Given the description of an element on the screen output the (x, y) to click on. 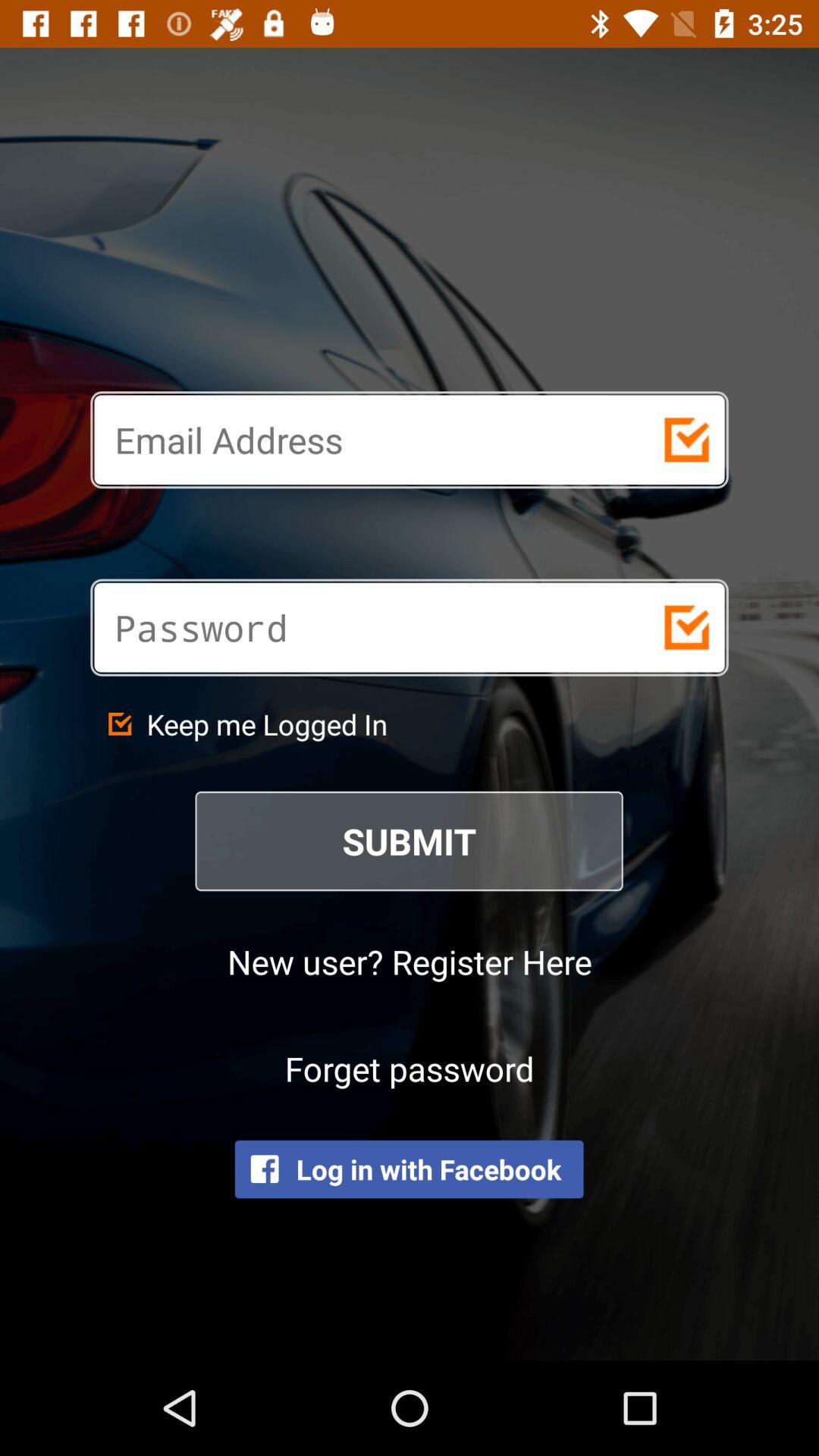
open item below the new user register (409, 1068)
